Given the description of an element on the screen output the (x, y) to click on. 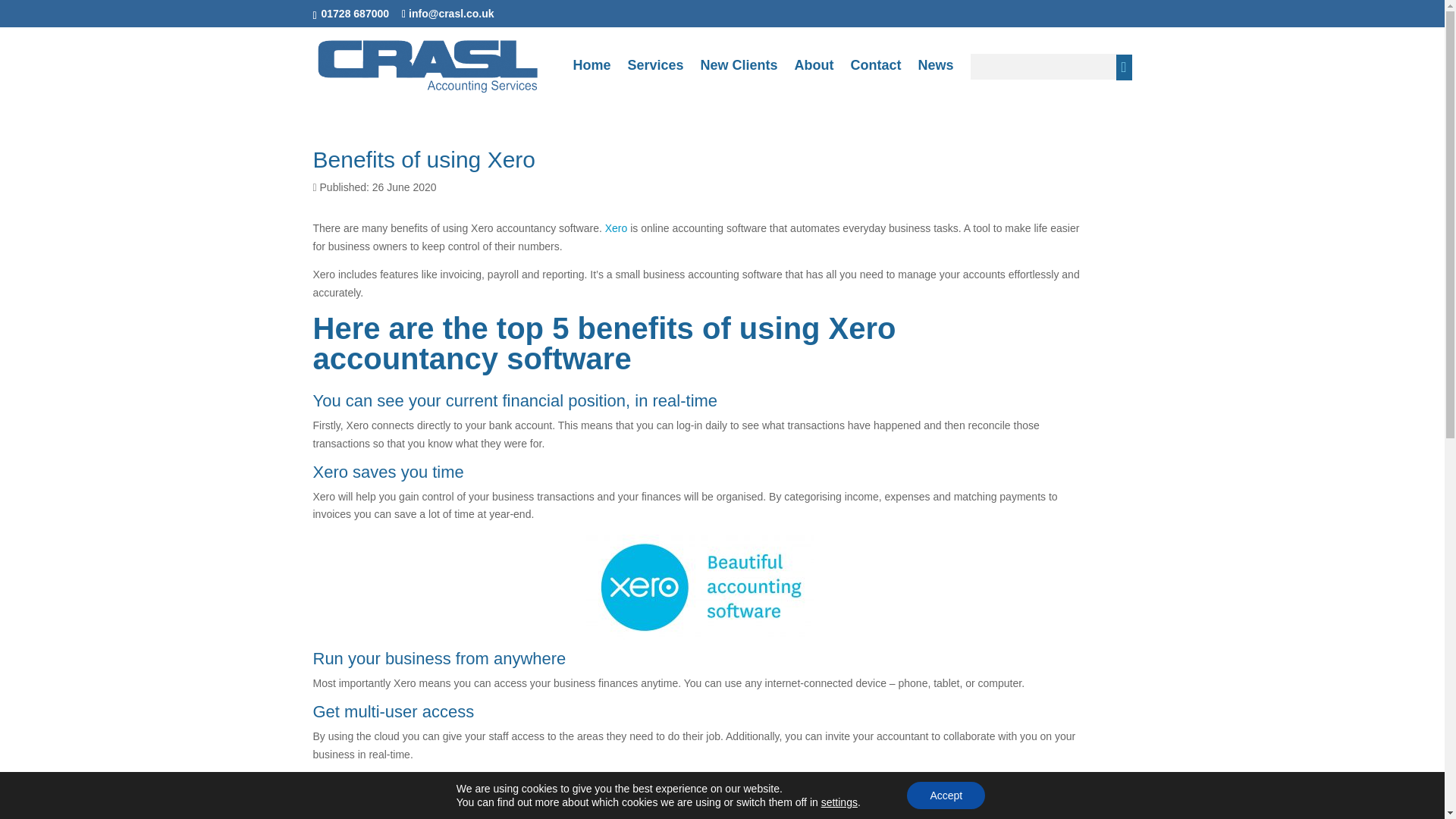
Xero (616, 227)
Home (591, 77)
Services (654, 77)
News (935, 77)
Contact (875, 77)
About (814, 77)
New Clients (738, 77)
